Given the description of an element on the screen output the (x, y) to click on. 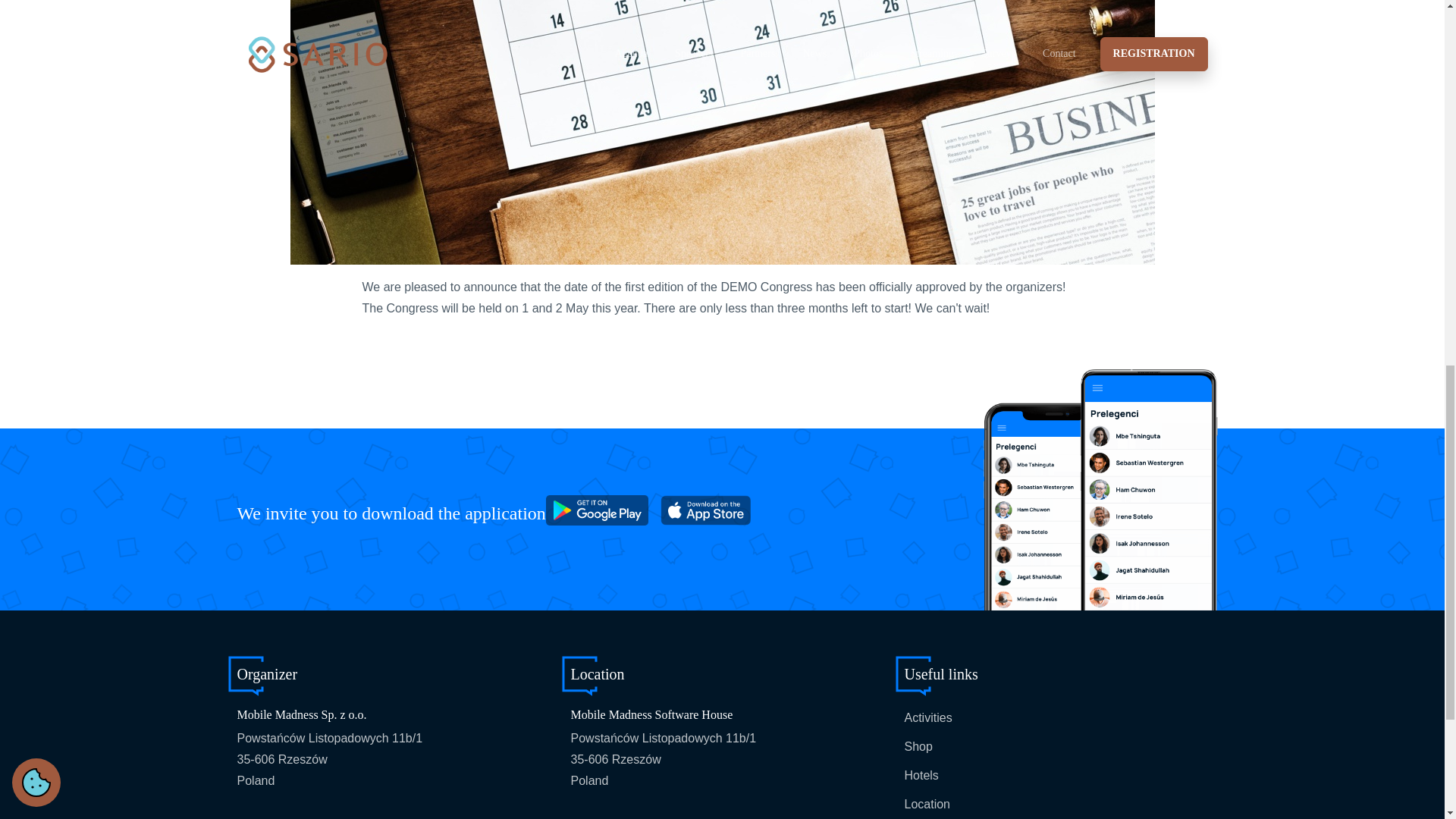
Activities (928, 717)
Shop (917, 746)
TURN ON NOTIFICATIONS (1081, 216)
Location (927, 803)
Hotels (920, 775)
NO, THANK YOU (1220, 216)
